Given the description of an element on the screen output the (x, y) to click on. 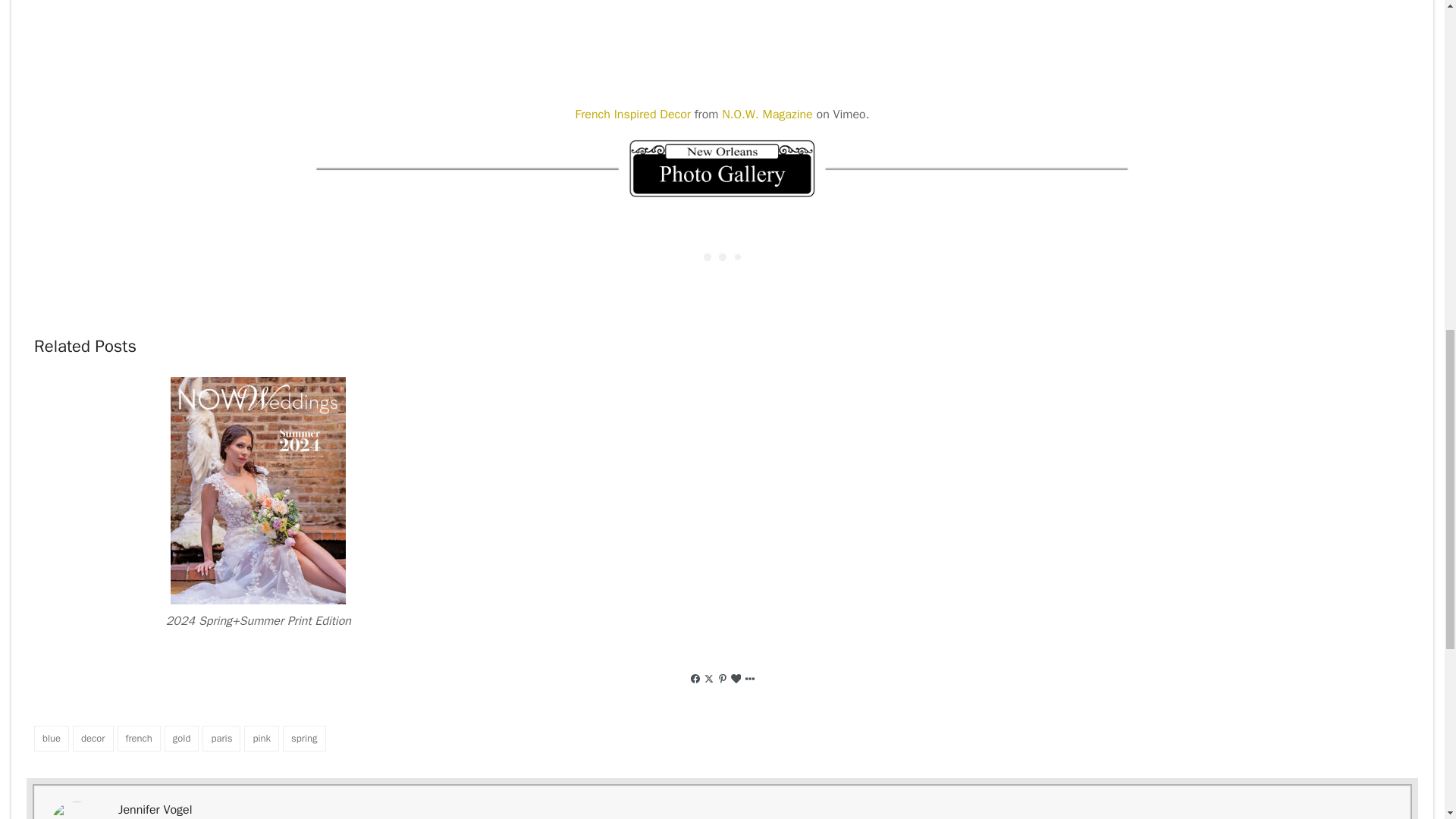
signgallery (721, 168)
